Given the description of an element on the screen output the (x, y) to click on. 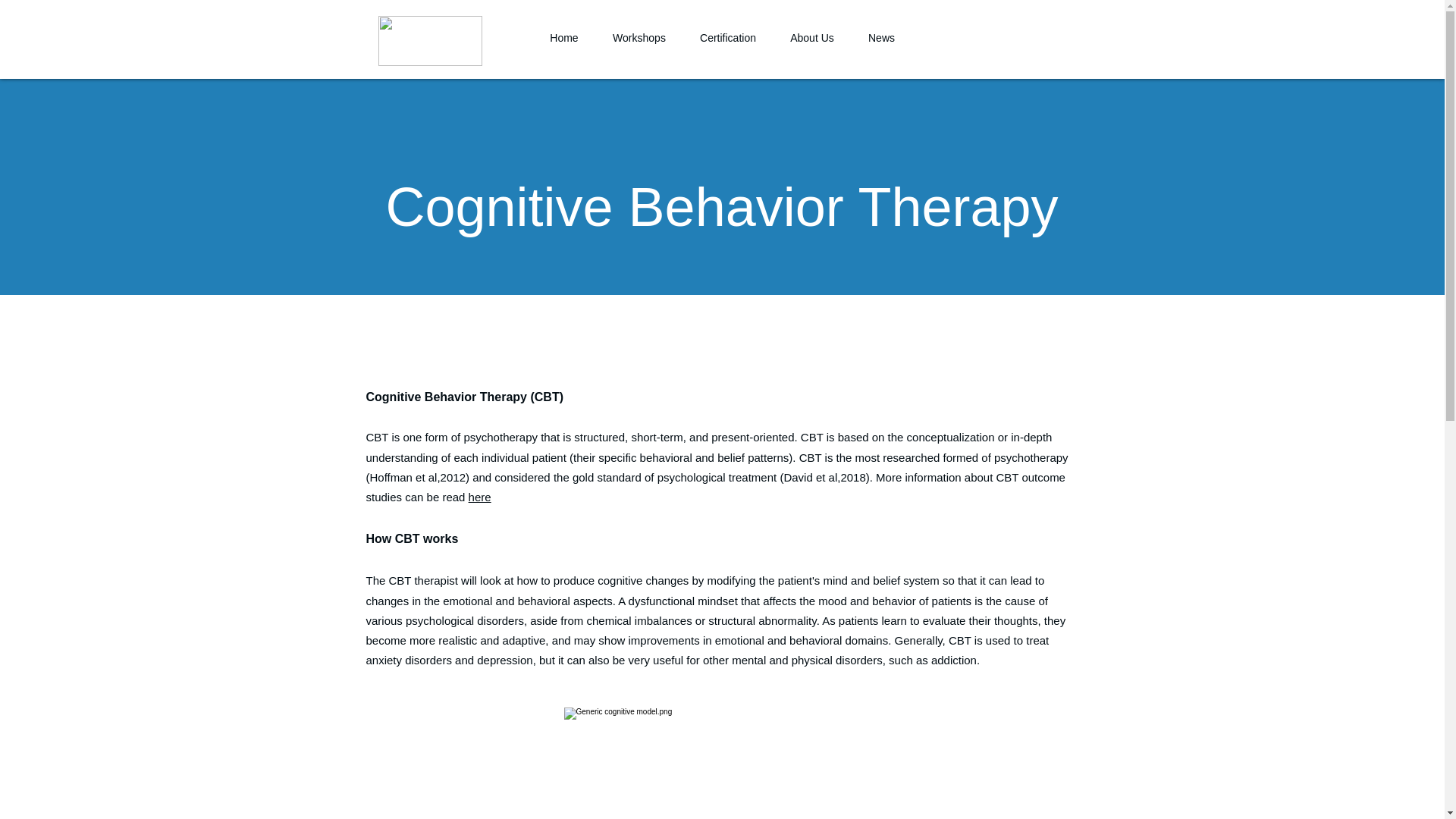
here (480, 496)
News (880, 37)
Frame 11.png (429, 40)
Certification (727, 37)
About Us (812, 37)
Home (563, 37)
Workshops (638, 37)
